Given the description of an element on the screen output the (x, y) to click on. 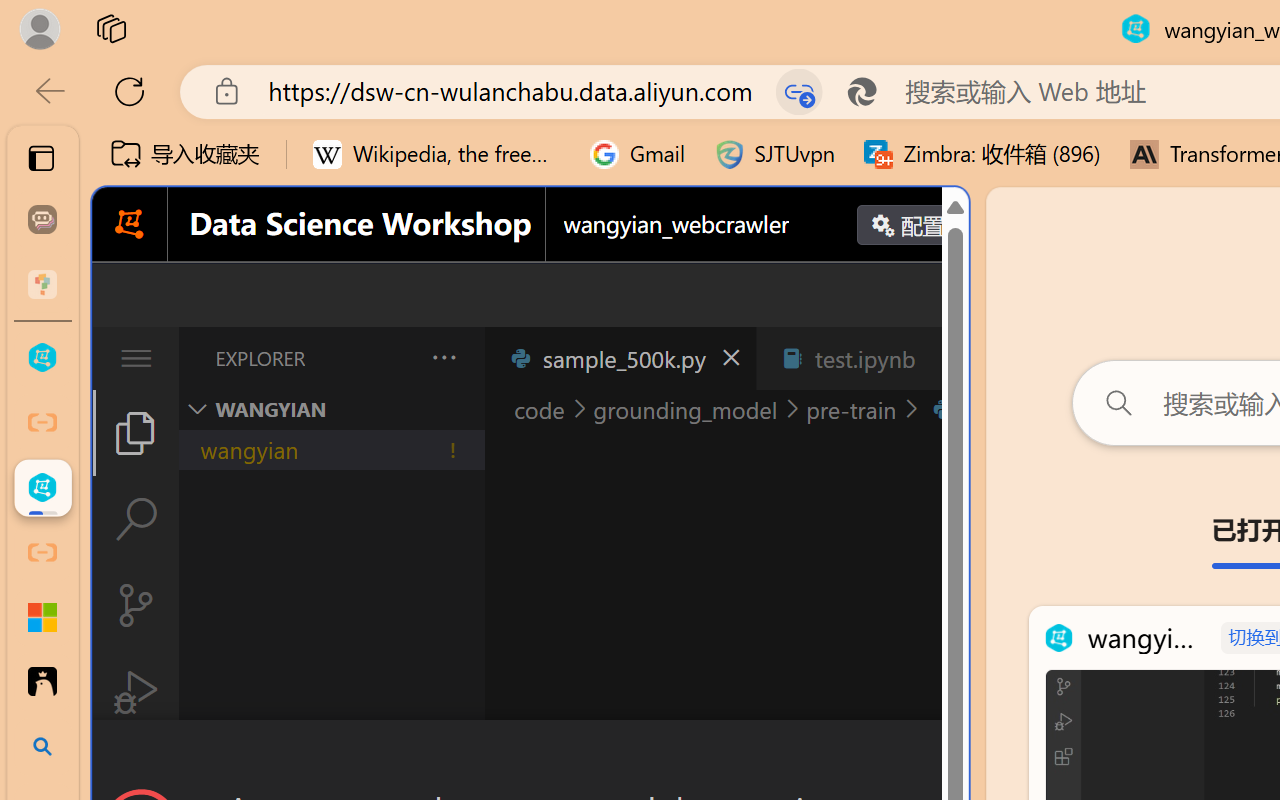
Gmail (637, 154)
Close Dialog (959, 756)
Explorer (Ctrl+Shift+E) (135, 432)
sample_500k.py (619, 358)
Application Menu (135, 358)
Search (Ctrl+Shift+F) (135, 519)
Views and More Actions... (442, 357)
Run and Debug (Ctrl+Shift+D) (135, 692)
test.ipynb (864, 358)
